Given the description of an element on the screen output the (x, y) to click on. 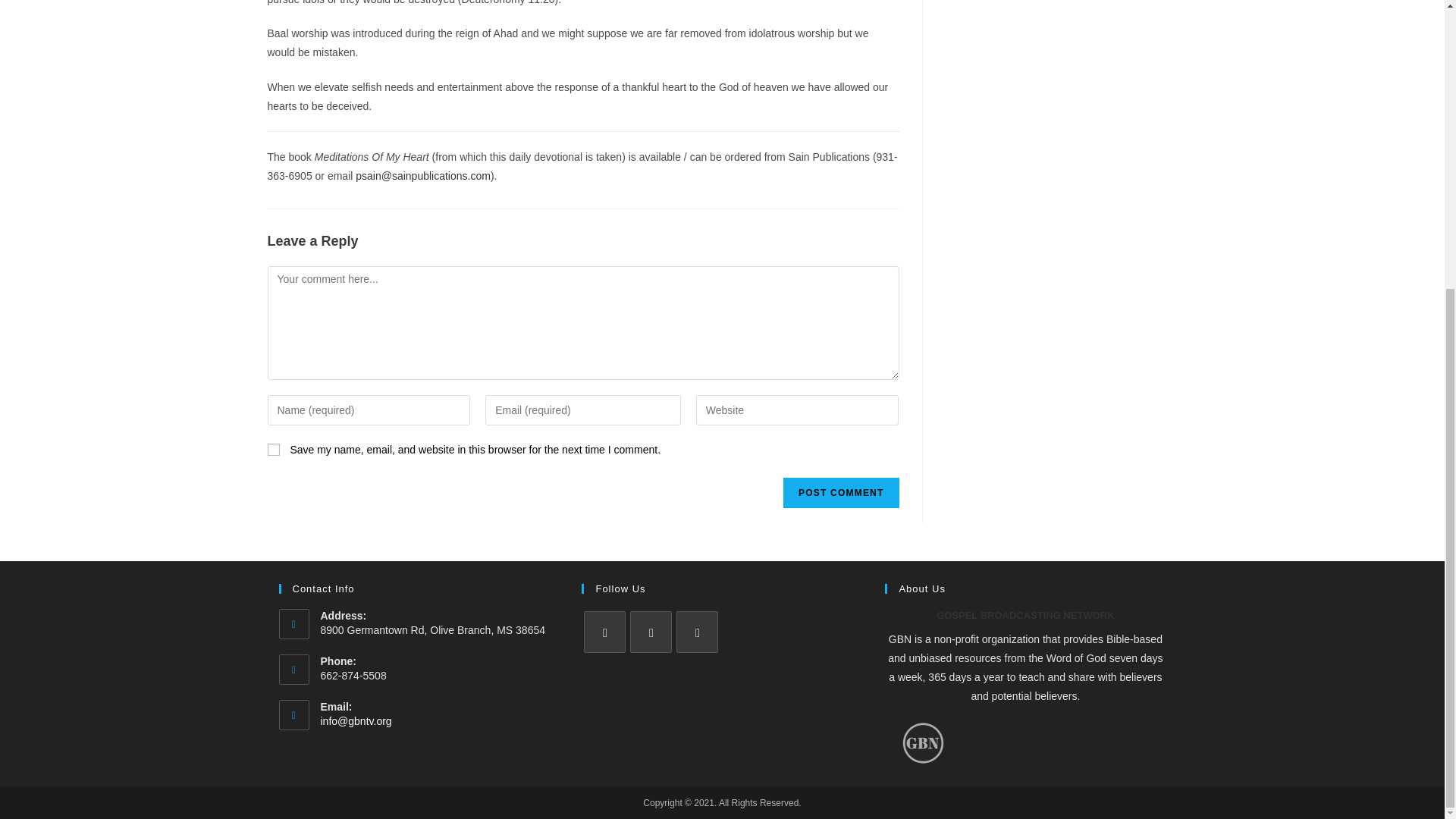
yes (272, 449)
Post Comment (840, 492)
